Given the description of an element on the screen output the (x, y) to click on. 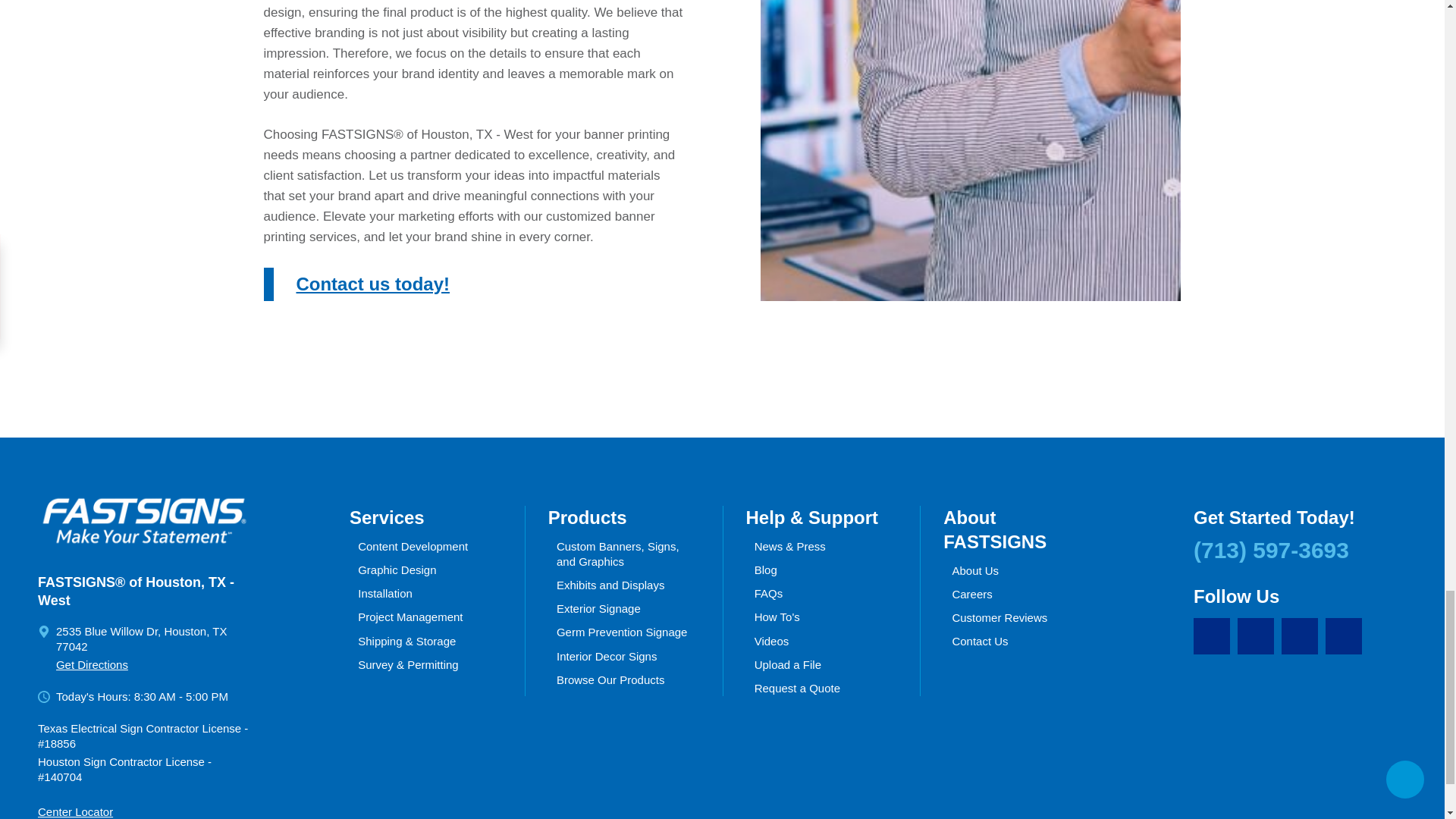
Instagram (1255, 636)
Career Link (1342, 636)
Yelp (1299, 636)
Facebook (1211, 636)
